Given the description of an element on the screen output the (x, y) to click on. 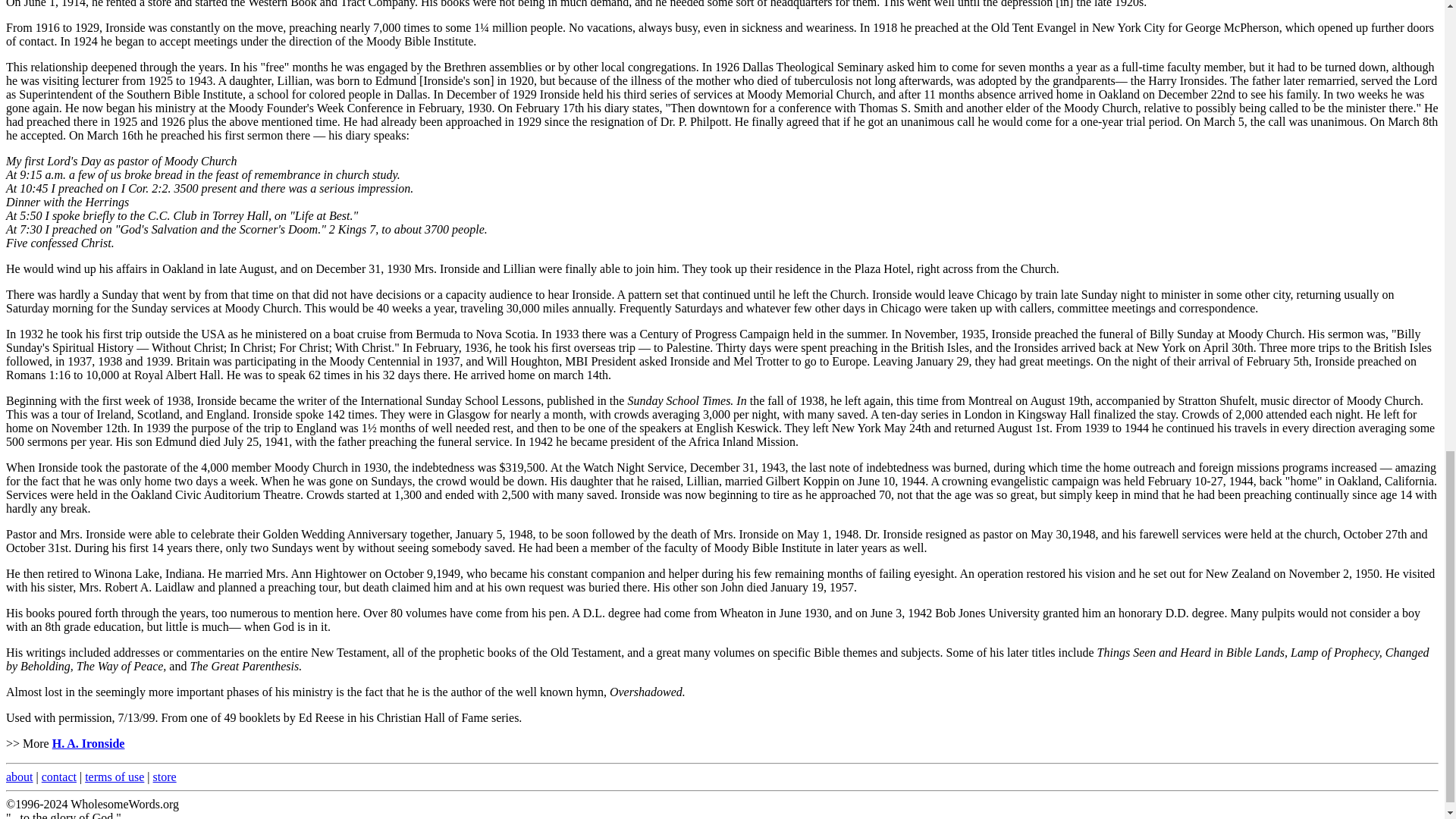
H. A. Ironside (88, 743)
terms of use (114, 776)
store (164, 776)
contact (59, 776)
about (19, 776)
